Given the description of an element on the screen output the (x, y) to click on. 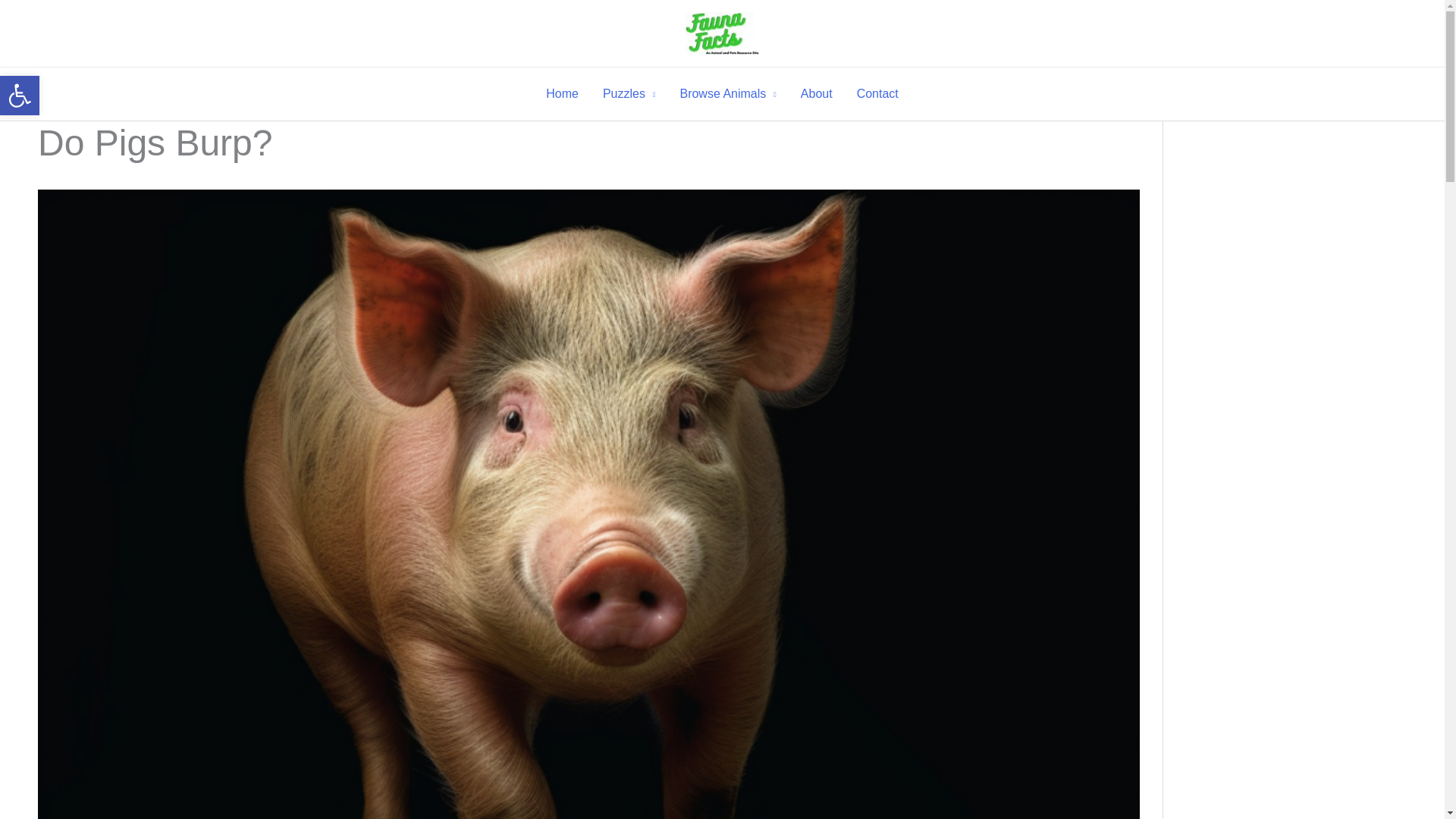
Puzzles (629, 93)
Contact (877, 93)
Accessibility Tools (19, 95)
Browse Animals (19, 95)
Accessibility Tools (726, 93)
About (19, 95)
Home (816, 93)
